Given the description of an element on the screen output the (x, y) to click on. 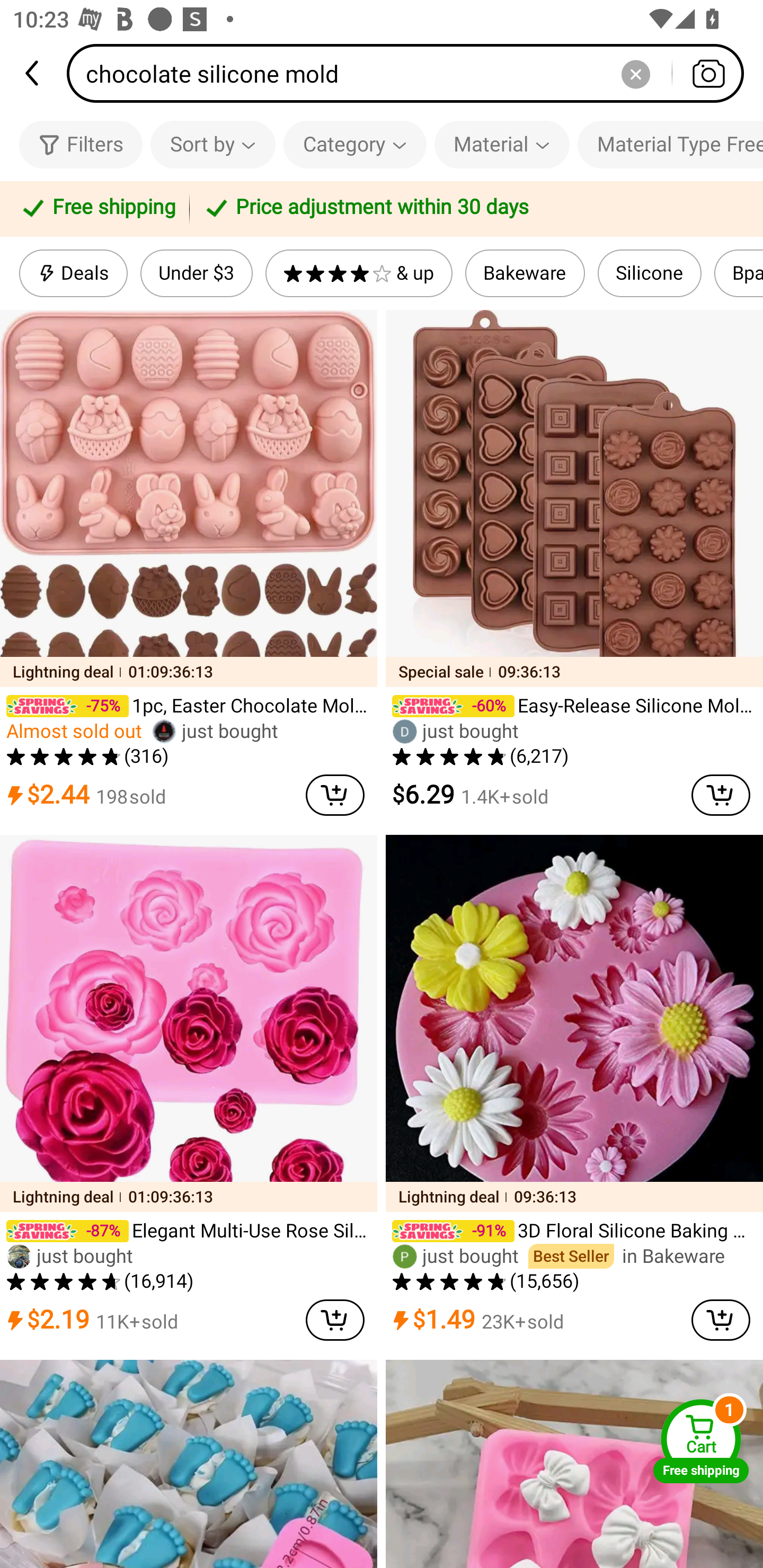
back (33, 72)
chocolate silicone mold (411, 73)
Delete search history (635, 73)
Search by photo (708, 73)
Filters (80, 143)
Sort by (212, 143)
Category (354, 143)
Material (501, 143)
Material Type Free (670, 143)
Free shipping (97, 208)
Price adjustment within 30 days (472, 208)
Deals (73, 273)
Under $3 (196, 273)
& up (358, 273)
Bakeware (525, 273)
Silicone (649, 273)
cart delete (334, 794)
cart delete (720, 794)
cart delete (334, 1319)
cart delete (720, 1319)
Cart Free shipping Cart (701, 1440)
